Given the description of an element on the screen output the (x, y) to click on. 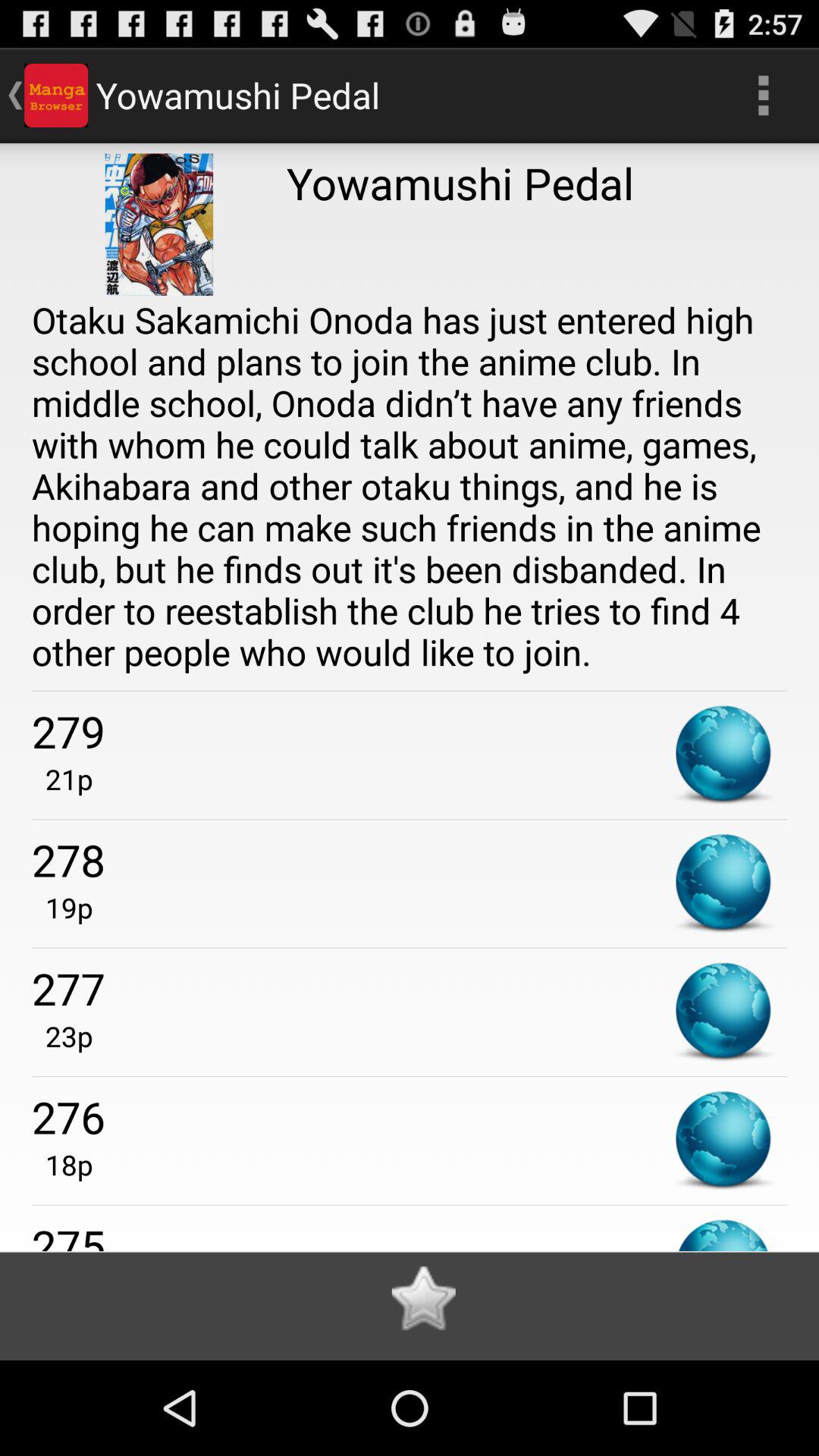
turn off the app above the   23p app (409, 987)
